Given the description of an element on the screen output the (x, y) to click on. 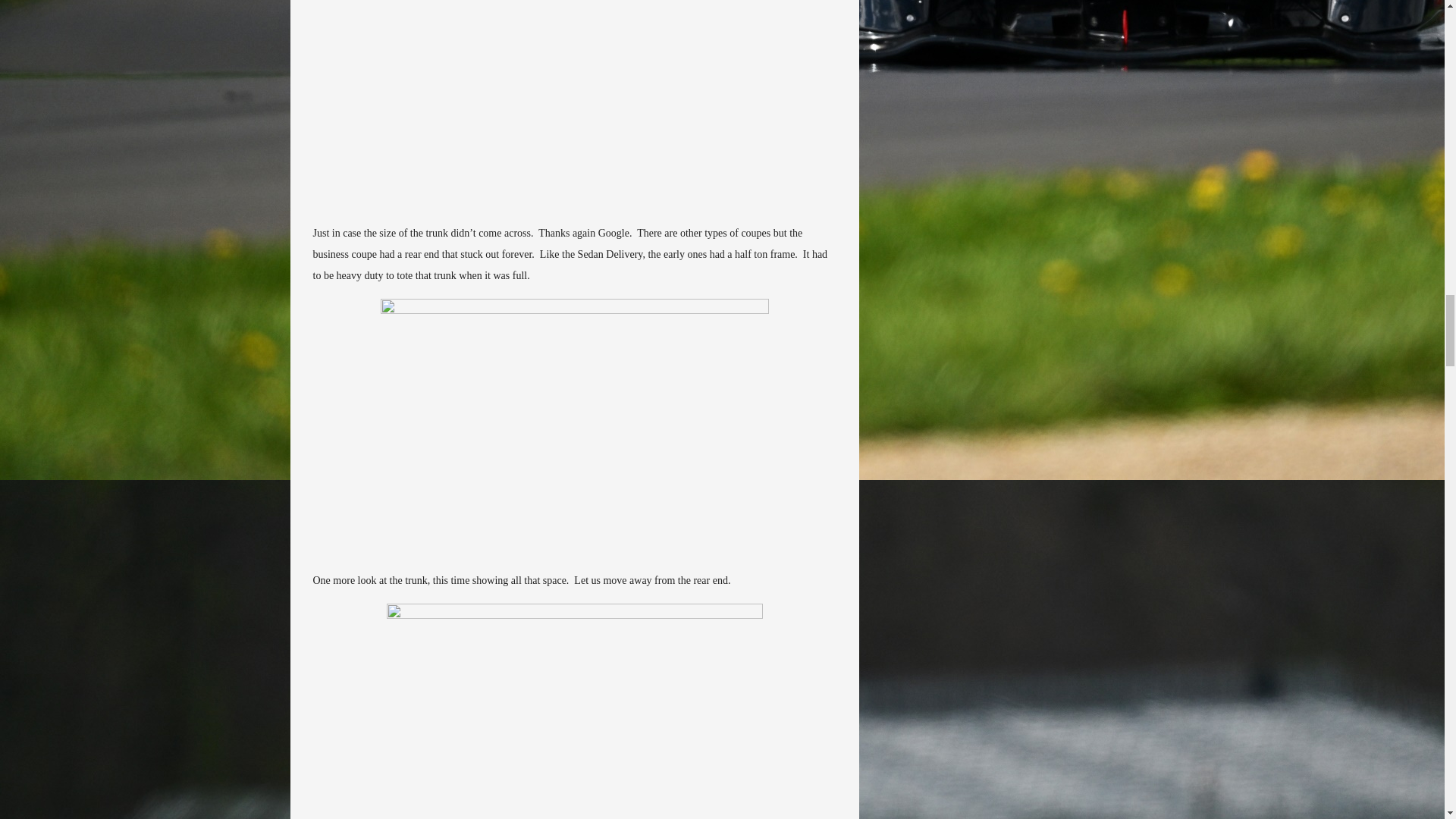
it says keep out - I did (574, 711)
trunk space (574, 427)
rear quarter (574, 105)
